Given the description of an element on the screen output the (x, y) to click on. 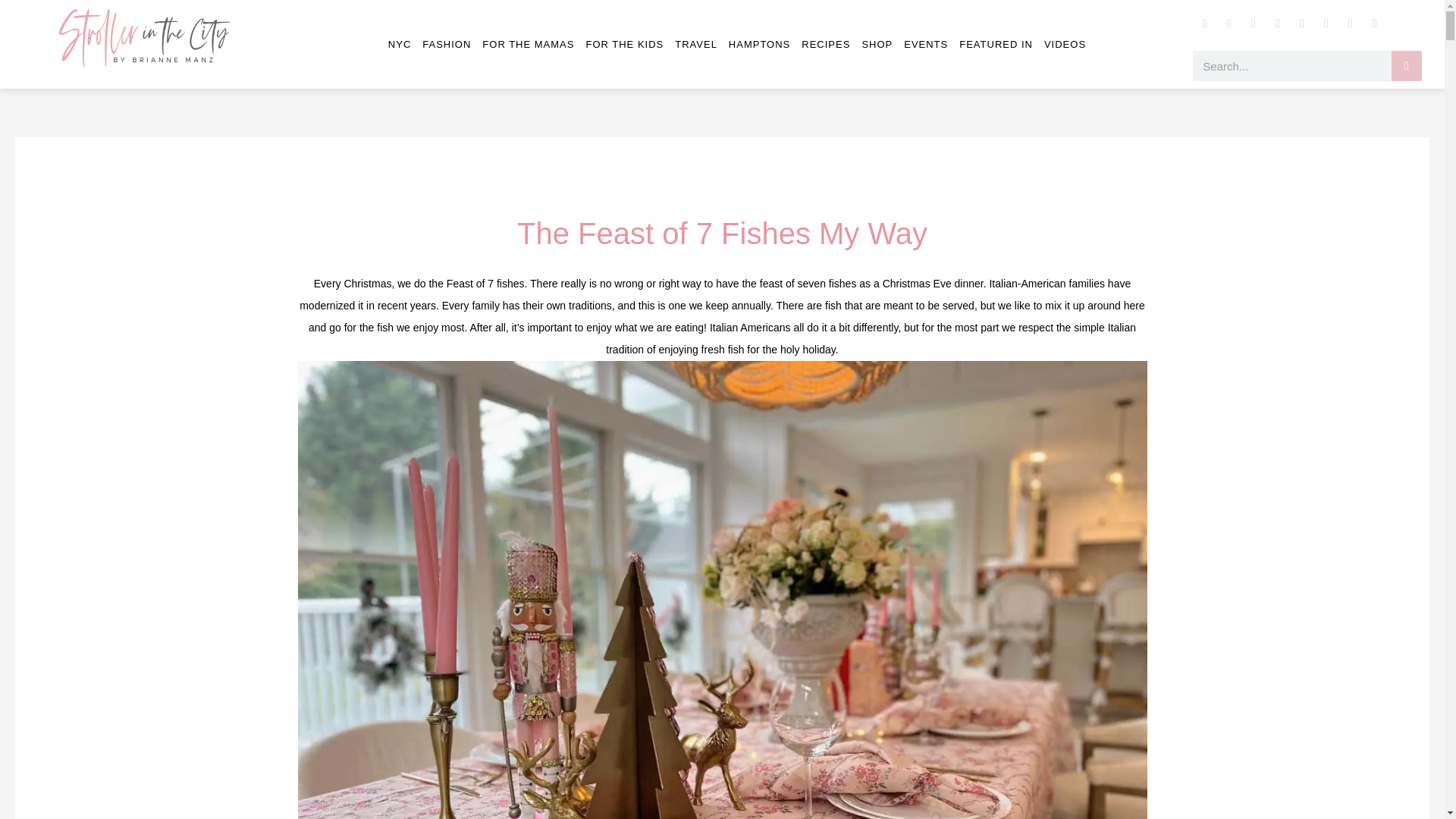
Icon-tiktok (1326, 23)
Instagram (1204, 23)
SHOP (876, 44)
RECIPES (826, 44)
Search (1406, 65)
HAMPTONS (759, 44)
Twitter (1253, 23)
EVENTS (925, 44)
VIDEOS (1064, 44)
Amazon (1350, 23)
NYC (399, 44)
FOR THE MAMAS (527, 44)
FEATURED IN (995, 44)
Youtube (1277, 23)
Rss (1374, 23)
